Given the description of an element on the screen output the (x, y) to click on. 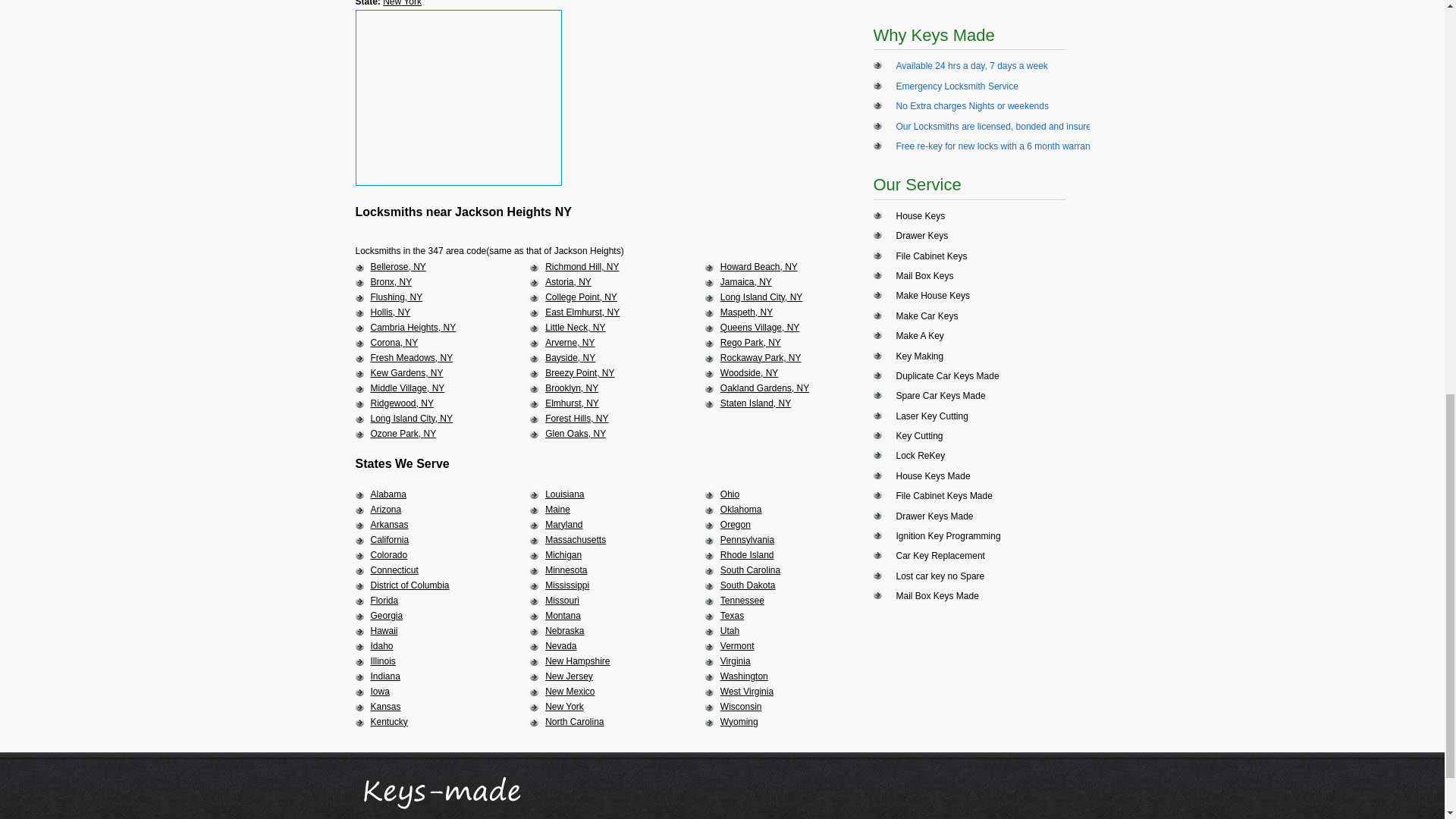
Ozone Park, NY (402, 433)
Arverne, NY (569, 342)
East Elmhurst, NY (582, 312)
Bellerose, NY (397, 266)
Brooklyn, NY (571, 388)
Glen Oaks, NY (574, 433)
College Point, NY (580, 296)
Breezy Point, NY (579, 372)
Long Island City, NY (761, 296)
Flushing, NY (395, 296)
Forest Hills, NY (576, 418)
Jamaica, NY (745, 281)
